Given the description of an element on the screen output the (x, y) to click on. 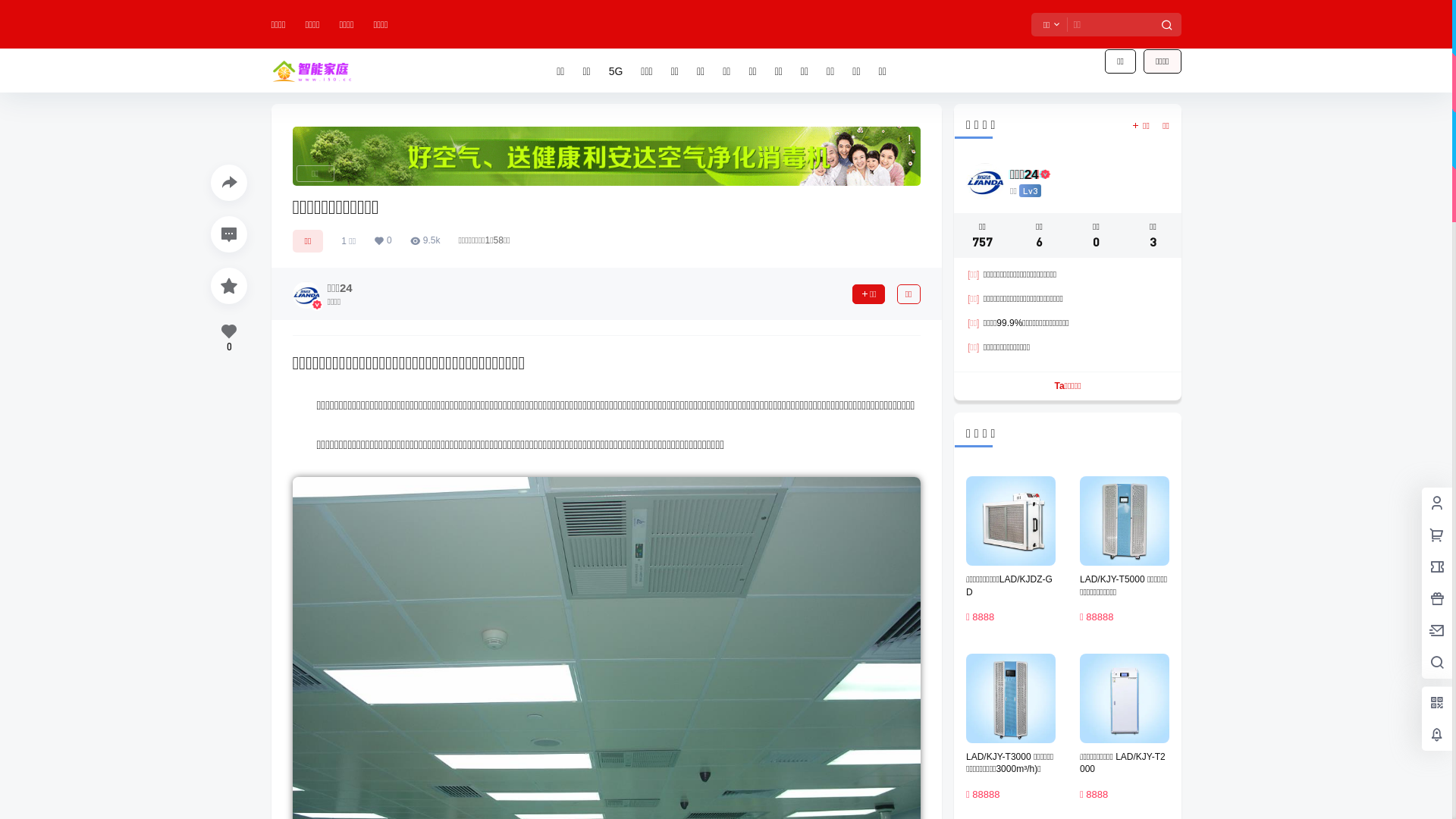
ok Element type: text (10, 10)
5G Element type: text (615, 71)
